Given the description of an element on the screen output the (x, y) to click on. 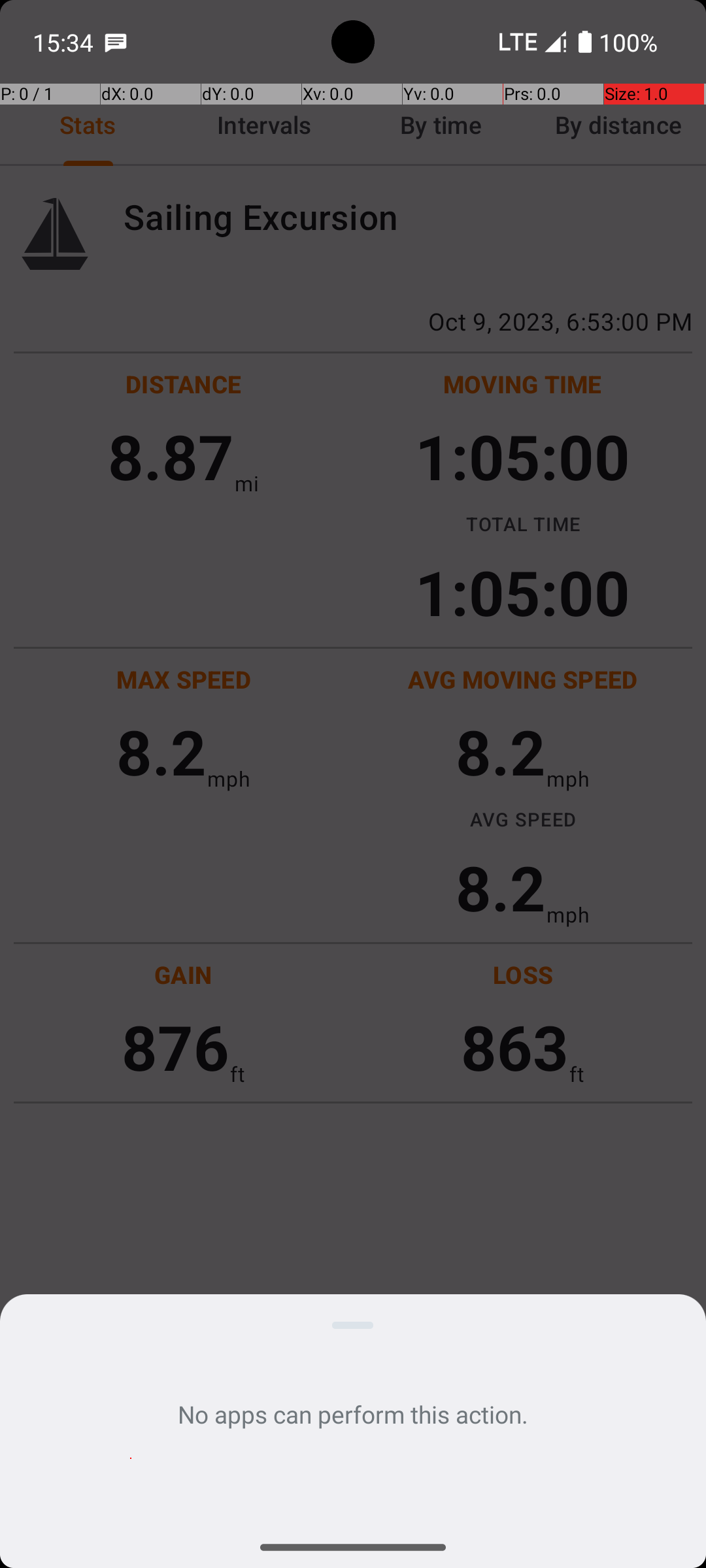
No apps can perform this action. Element type: android.widget.TextView (352, 1413)
